Given the description of an element on the screen output the (x, y) to click on. 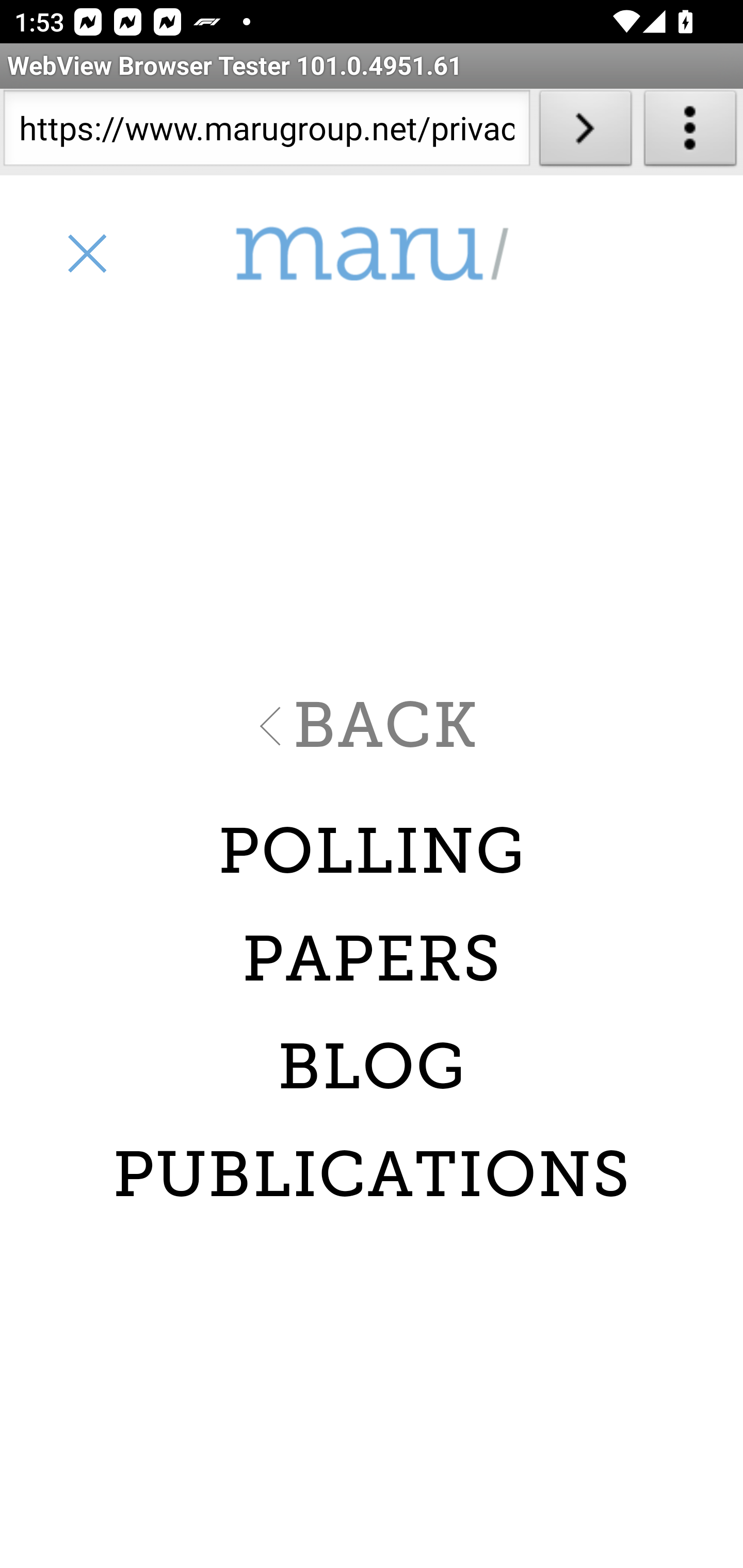
https://www.marugroup.net/privacy-policy (266, 132)
Load URL (585, 132)
About WebView (690, 132)
Close Menu (86, 252)
Maru Group (371, 253)
BACK (372, 725)
POLLING (372, 851)
PAPERS (372, 959)
BLOG (372, 1066)
PUBLICATIONS (372, 1175)
